Given the description of an element on the screen output the (x, y) to click on. 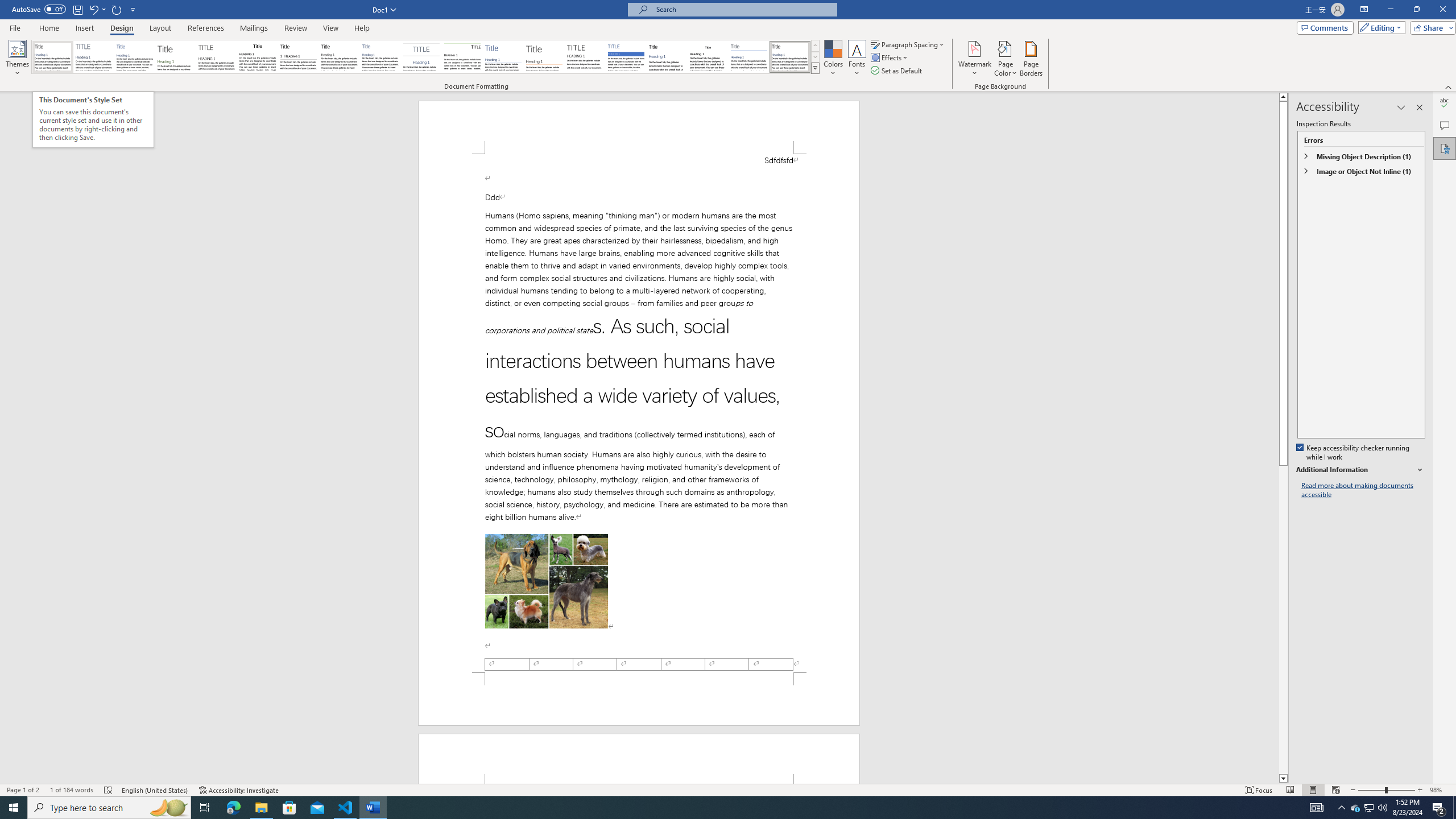
Effects (890, 56)
Keep accessibility checker running while I work (1353, 452)
Shaded (625, 56)
Black & White (Numbered) (298, 56)
Set as Default (897, 69)
Page Color (1005, 58)
Word 2010 (749, 56)
Casual (379, 56)
